Given the description of an element on the screen output the (x, y) to click on. 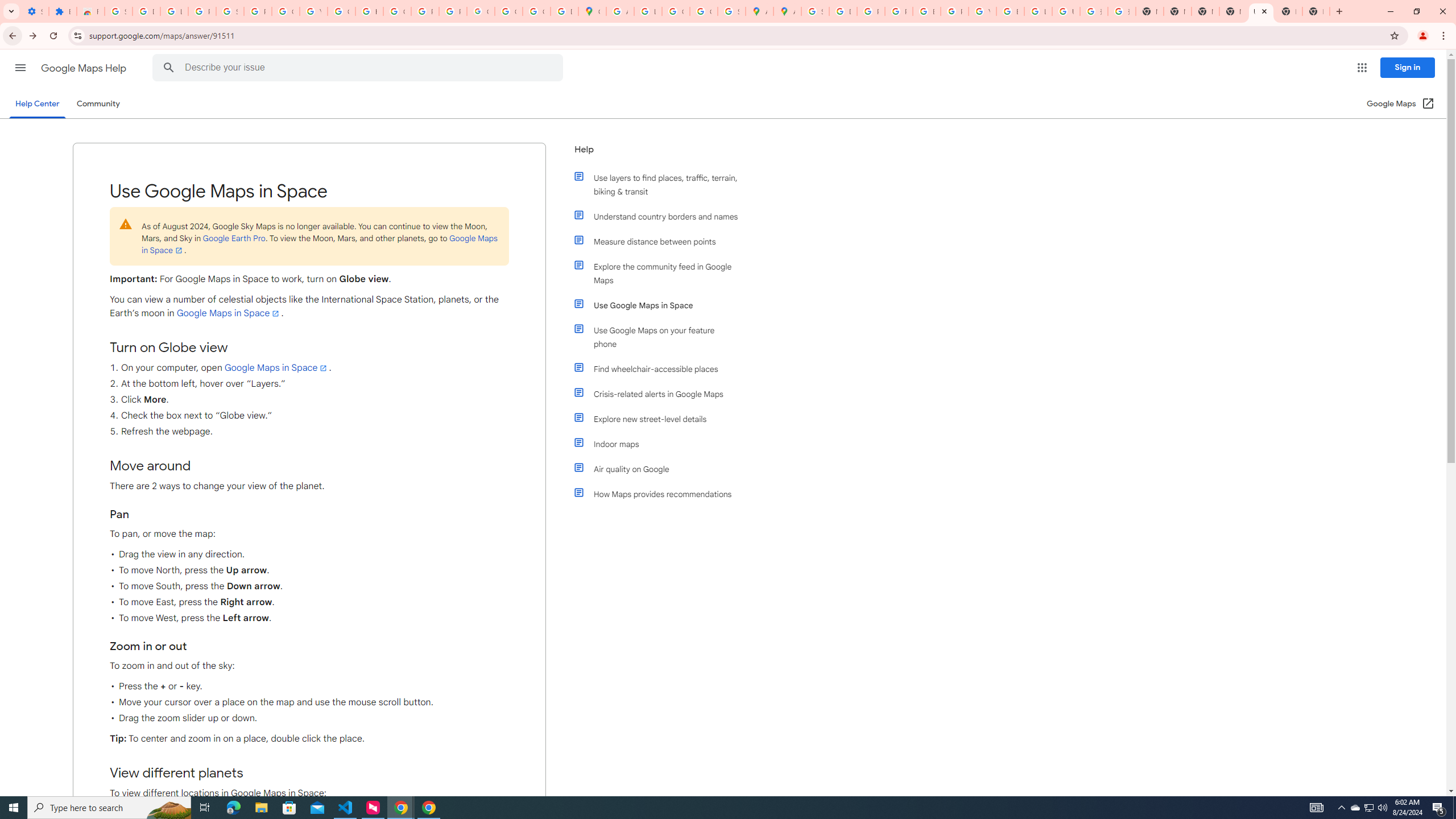
Use Google Maps on your feature phone (661, 336)
New Tab (1233, 11)
New Tab (1288, 11)
Describe your issue (359, 67)
Use Google Maps in Space (661, 305)
Search Help Center (168, 67)
Safety in Our Products - Google Safety Center (731, 11)
Google Account (285, 11)
Google Maps (Open in a new window) (1400, 103)
